Given the description of an element on the screen output the (x, y) to click on. 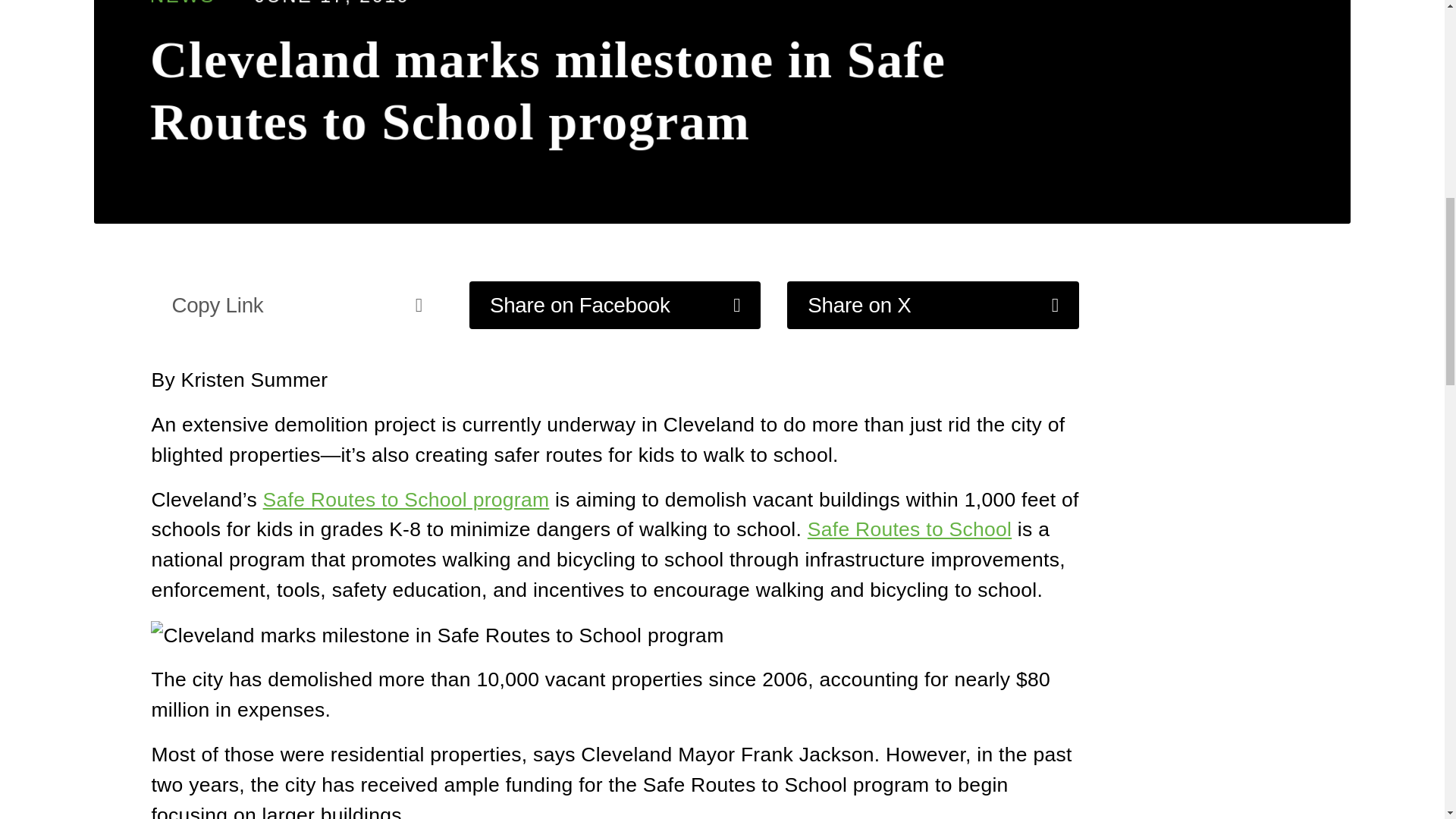
Copy Link (296, 305)
Safe Routes to School program (406, 499)
Share on Facebook (614, 305)
Safe Routes to School (909, 528)
Share on X (932, 305)
